Given the description of an element on the screen output the (x, y) to click on. 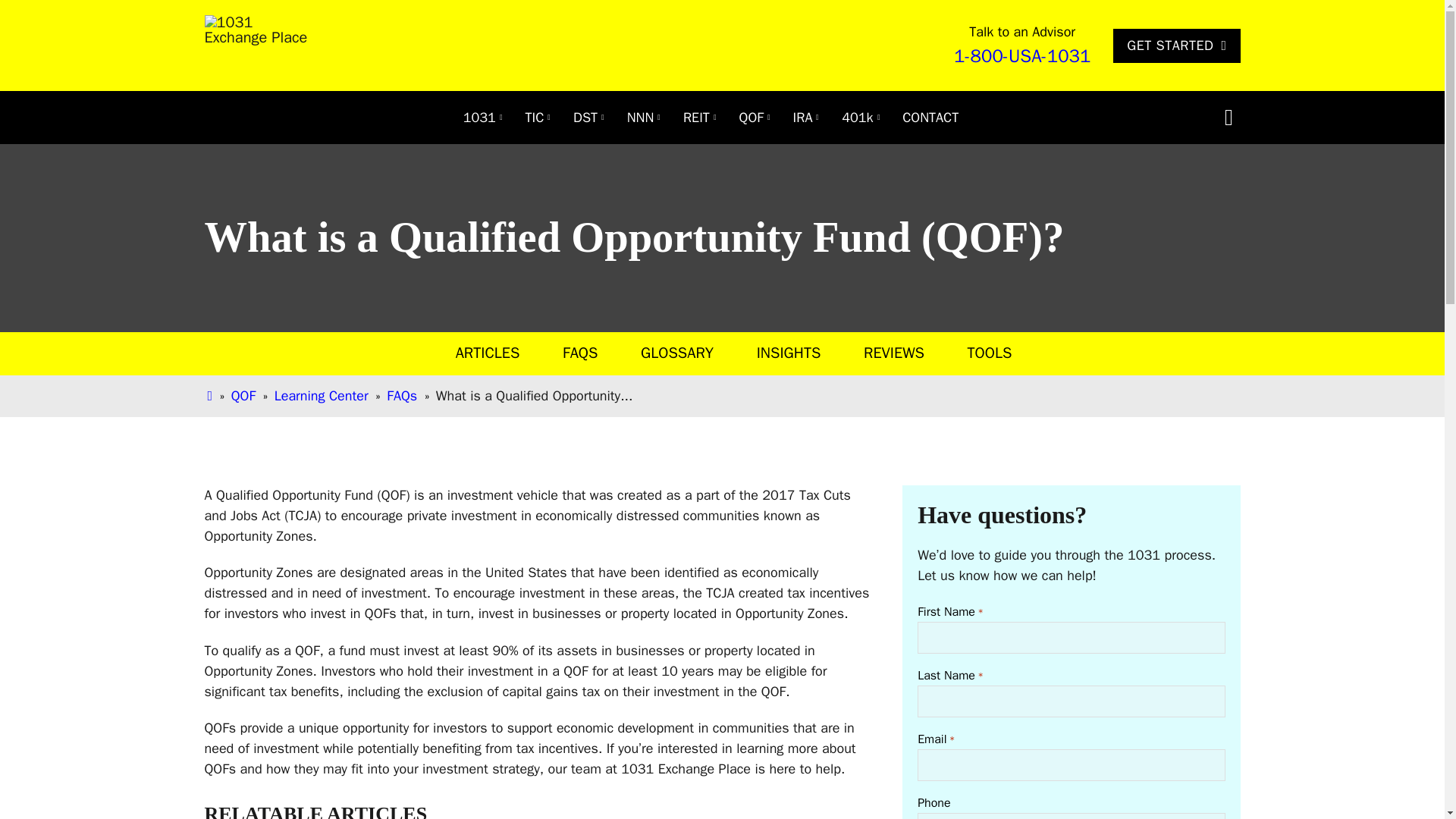
1031 (479, 117)
1-800-USA-1031 (1021, 55)
Tenants In Common (534, 117)
GET STARTED (1176, 45)
DST (584, 117)
Delaware Statutory Trust (584, 117)
1031 Exchange Intermediary (479, 117)
NNN (640, 117)
TIC (534, 117)
Triple Net Lease (640, 117)
